Given the description of an element on the screen output the (x, y) to click on. 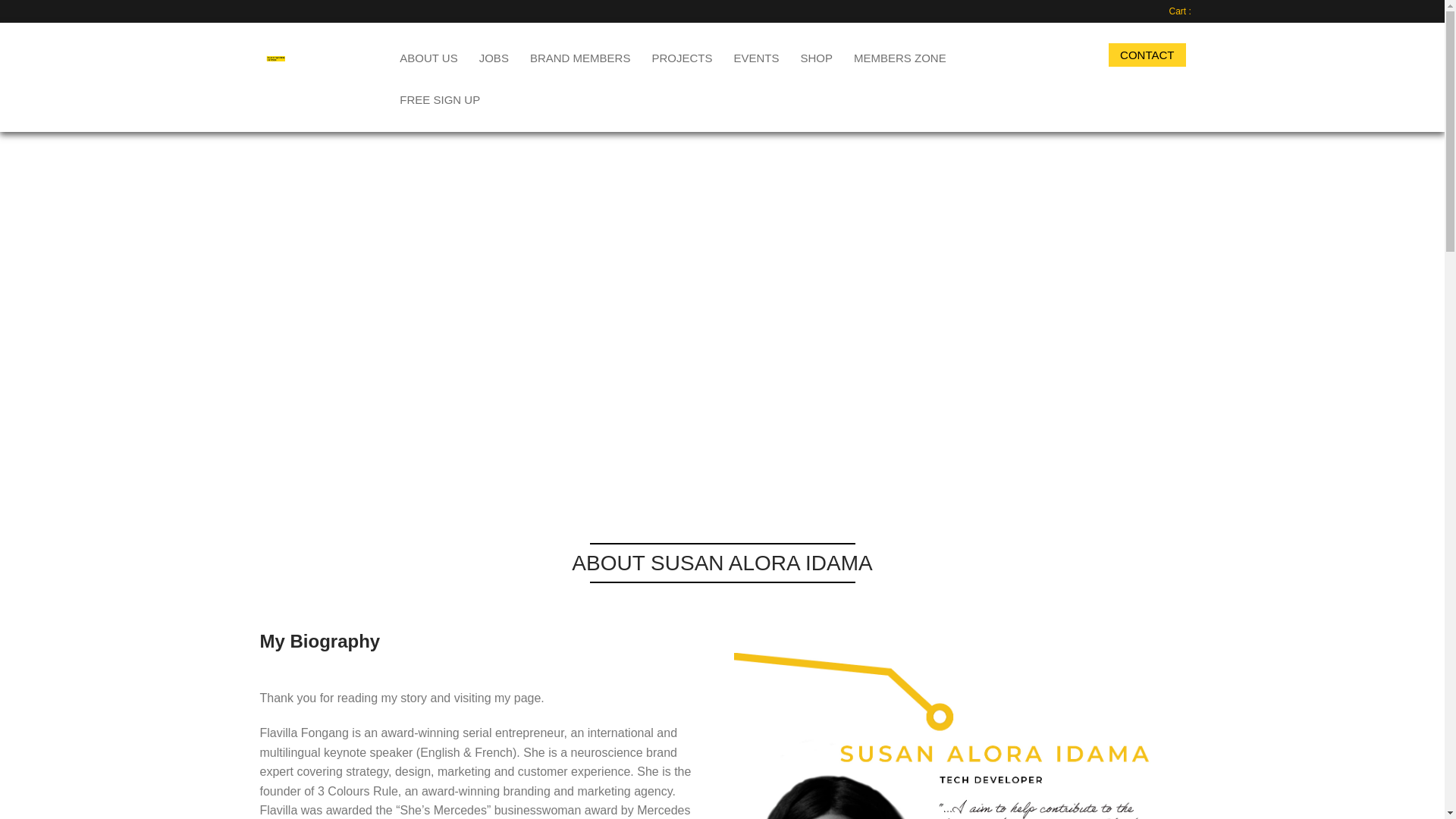
Cart : (1181, 10)
EVENTS (755, 56)
BRAND MEMBERS (580, 56)
ABOUT US (427, 56)
PROJECTS (681, 56)
SHOP (816, 56)
MEMBERS ZONE (899, 56)
JOBS (493, 56)
